Given the description of an element on the screen output the (x, y) to click on. 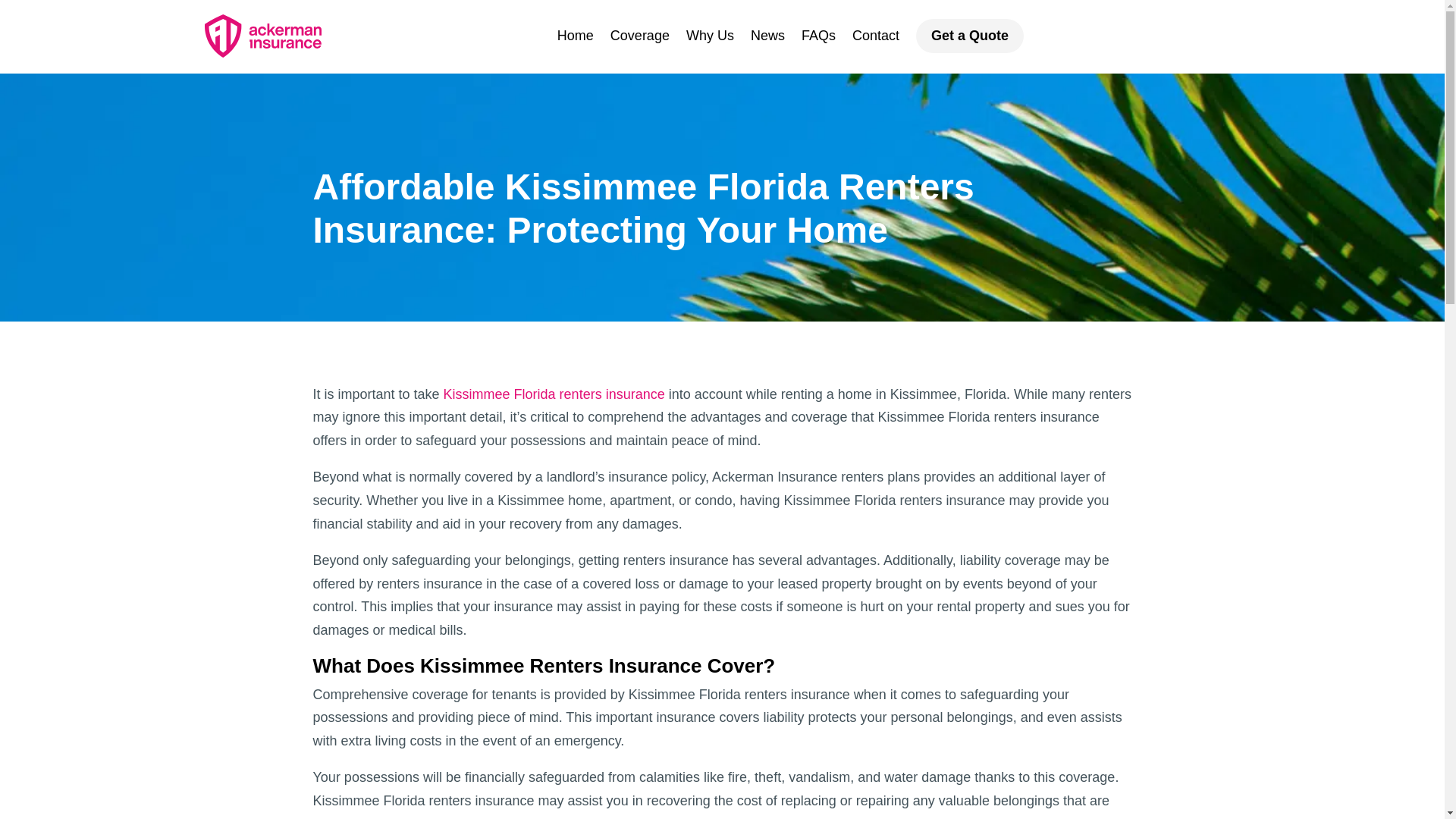
Contact (875, 35)
Why Us (709, 35)
Get a Quote (969, 35)
Kissimmee Florida renters insurance (554, 394)
Coverage (639, 35)
